Given the description of an element on the screen output the (x, y) to click on. 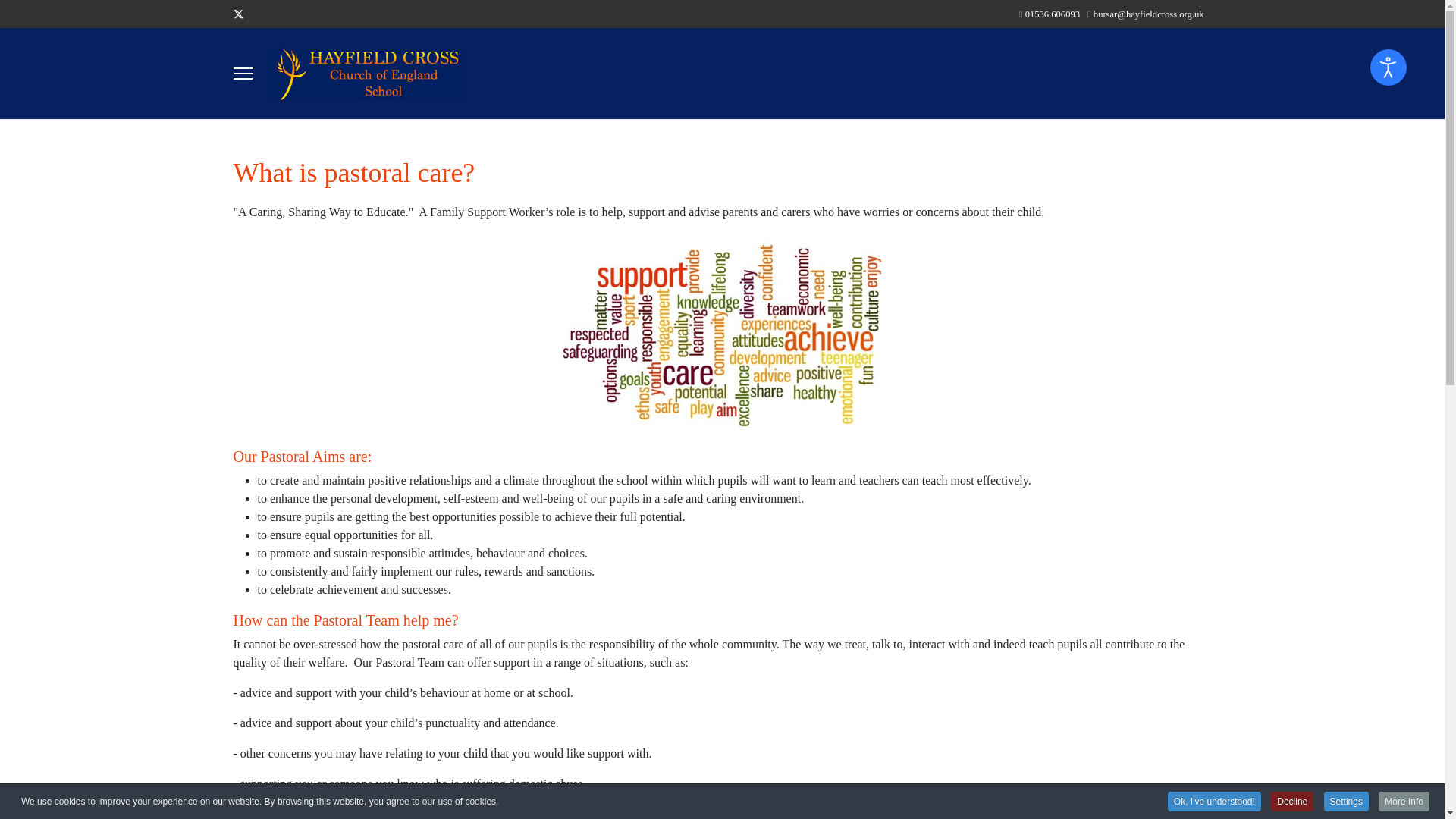
01536 606093 (1052, 14)
Open accessibility tools (1388, 67)
